Given the description of an element on the screen output the (x, y) to click on. 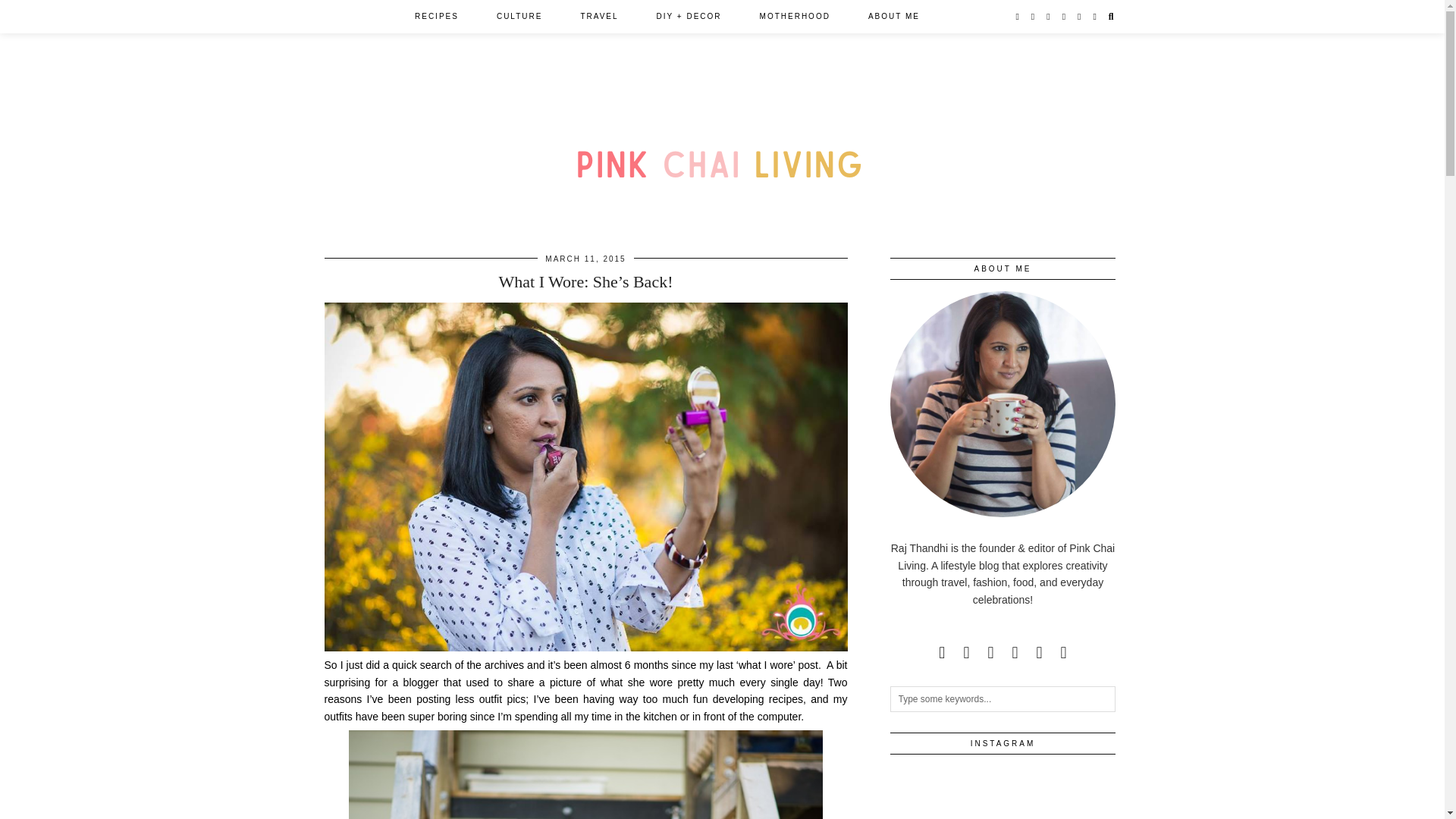
TRAVEL (598, 16)
CULTURE (518, 16)
Pink Chai Living (722, 145)
ABOUT ME (893, 16)
RECIPES (436, 16)
MOTHERHOOD (794, 16)
